Given the description of an element on the screen output the (x, y) to click on. 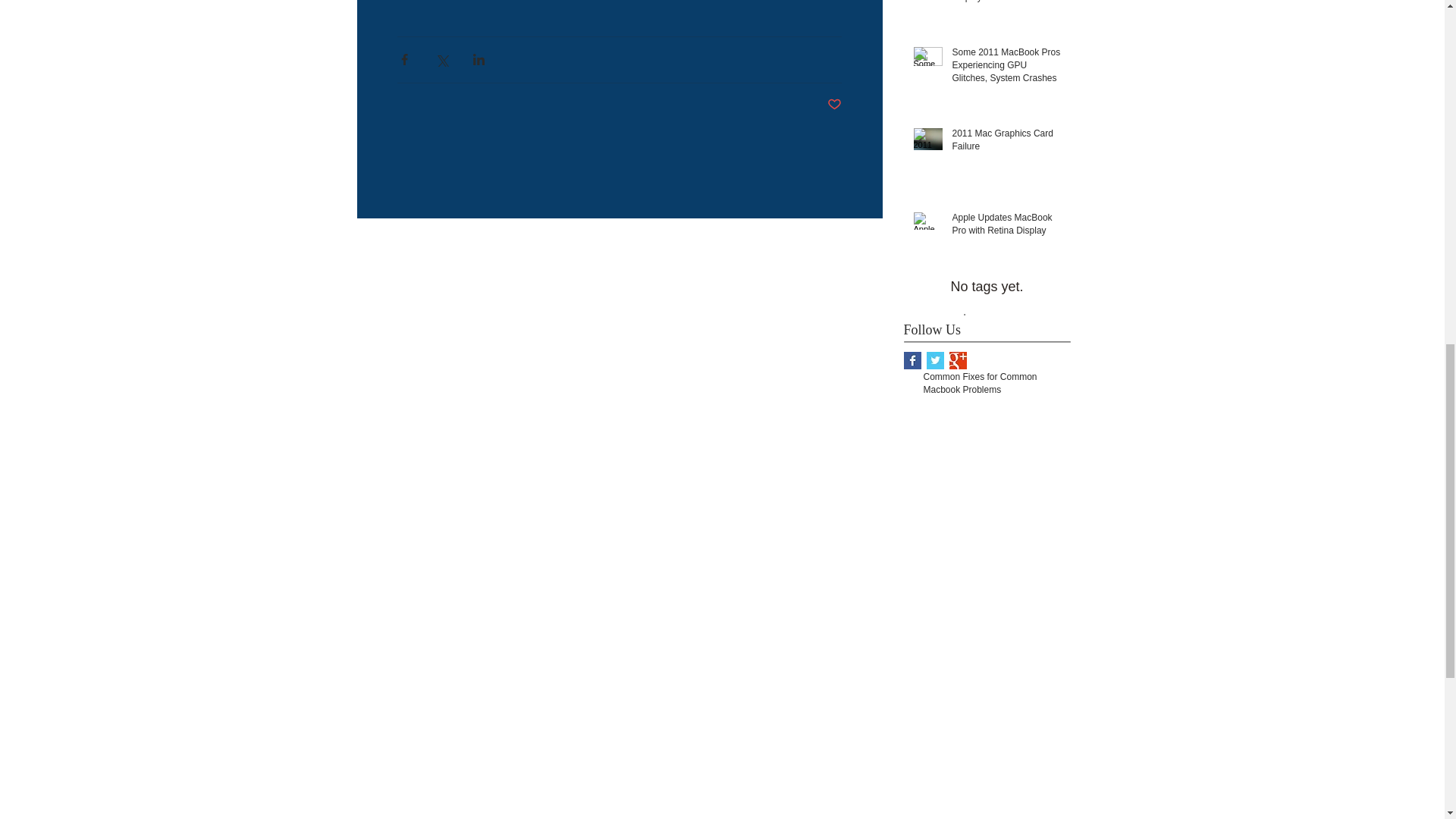
Apple Introduces 27-inch iMac with Retina 5K Display (1006, 4)
2011 Mac Graphics Card Failure (1006, 142)
Post not marked as liked (834, 105)
Common Fixes for Common Macbook Problems (992, 386)
How to Get Macbook Pro Repair (1006, 306)
Apple Updates MacBook Pro with Retina Display (1006, 227)
